Given the description of an element on the screen output the (x, y) to click on. 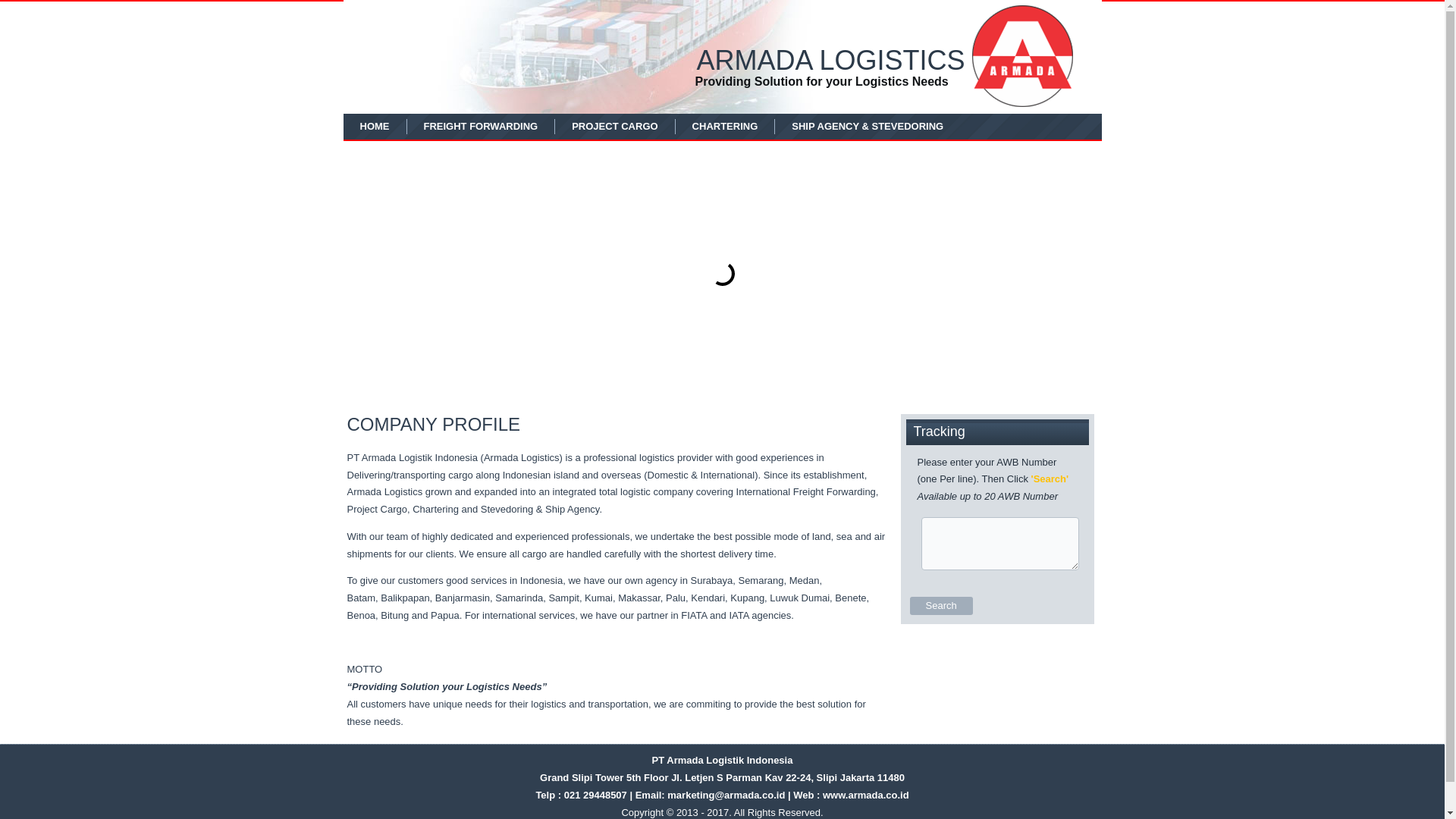
PROJECT CARGO (614, 126)
PROJECT CARGO (614, 126)
CHARTERING (725, 126)
FREIGHT FORWARDING (480, 126)
FREIGHT FORWARDING (480, 126)
ARMADA LOGISTICS (829, 60)
Search (941, 606)
Search (941, 606)
CHARTERING (725, 126)
HOME (375, 126)
HOME (375, 126)
